Given the description of an element on the screen output the (x, y) to click on. 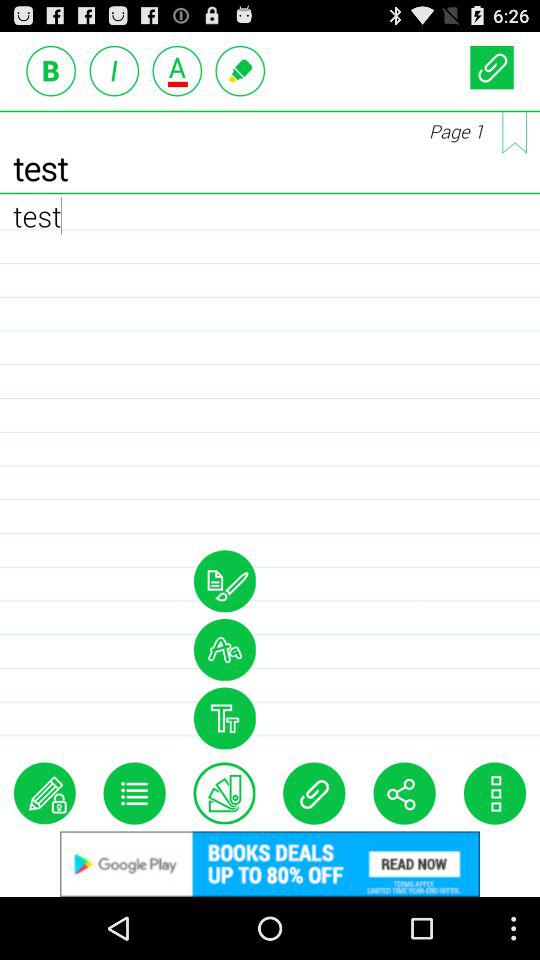
attach something (314, 793)
